Given the description of an element on the screen output the (x, y) to click on. 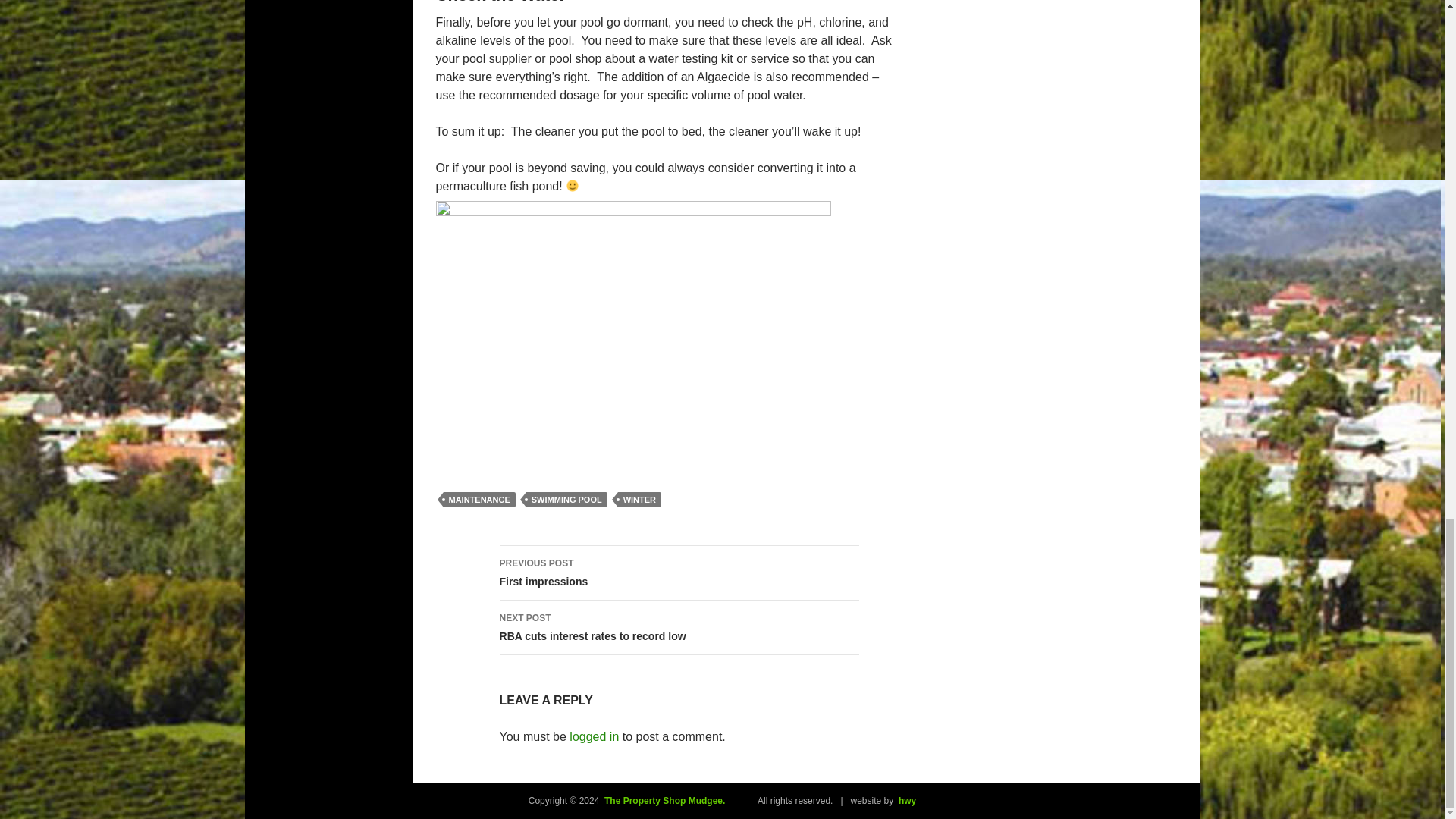
WINTER (639, 499)
The Property Shop Mudgee (661, 800)
  The Property Shop Mudgee. (661, 800)
 hwy (906, 800)
Convert your pool to a fishpond (679, 627)
SWIMMING POOL (632, 333)
MAINTENANCE (566, 499)
logged in (478, 499)
Highway Internet Services (593, 736)
